Given the description of an element on the screen output the (x, y) to click on. 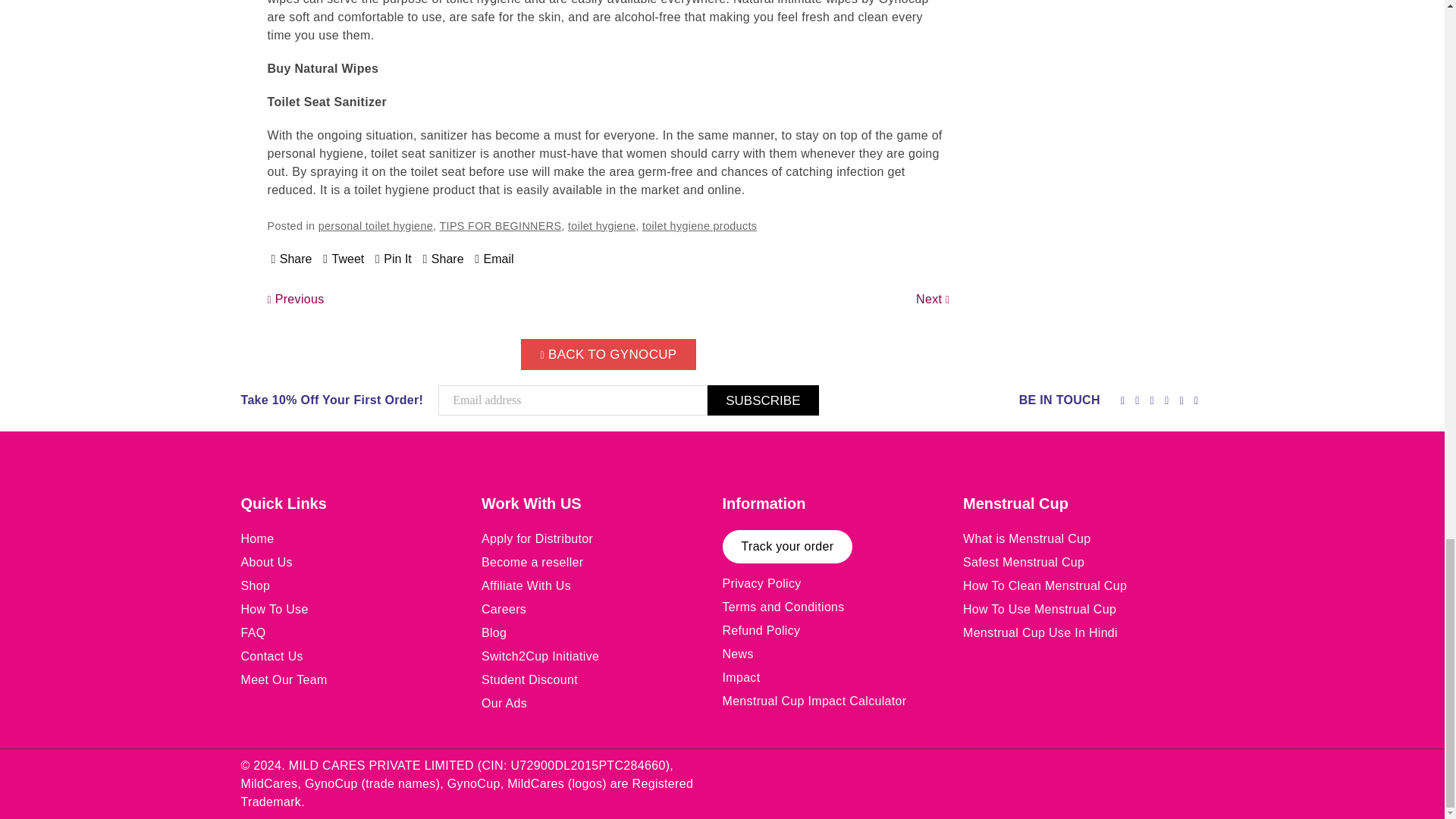
Share on Facebook (291, 258)
Share on Linked In (443, 258)
Pin on Pinterest (393, 258)
Tweet on Twitter (343, 258)
Share by Email (493, 258)
